Given the description of an element on the screen output the (x, y) to click on. 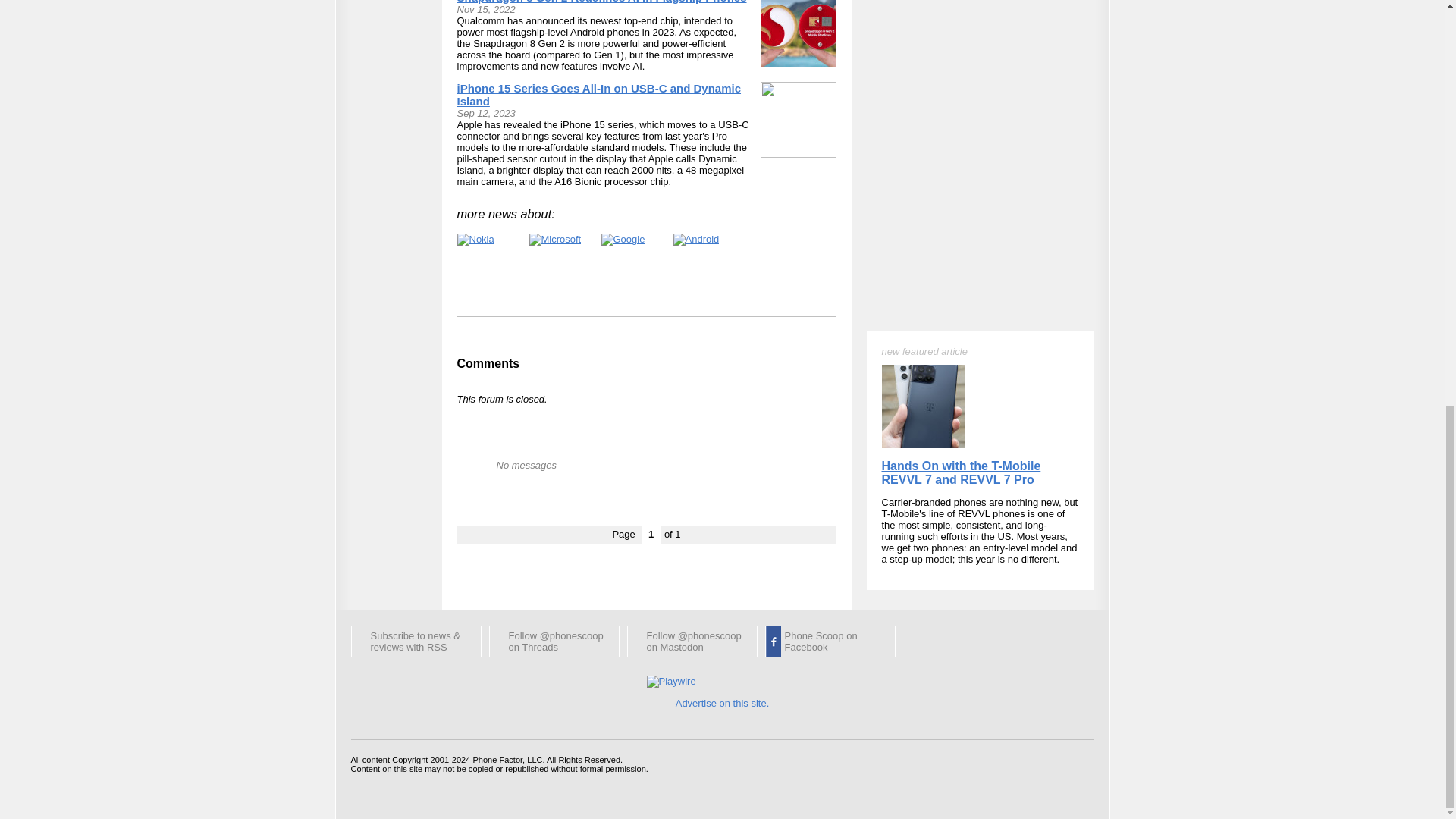
Comments (488, 363)
Android (695, 239)
Phone Scoop - Latest News (415, 641)
Microsoft (554, 239)
Nokia (475, 239)
Google (622, 239)
Hands On with the T-Mobile REVVL 7 and REVVL 7 Pro (960, 102)
